Given the description of an element on the screen output the (x, y) to click on. 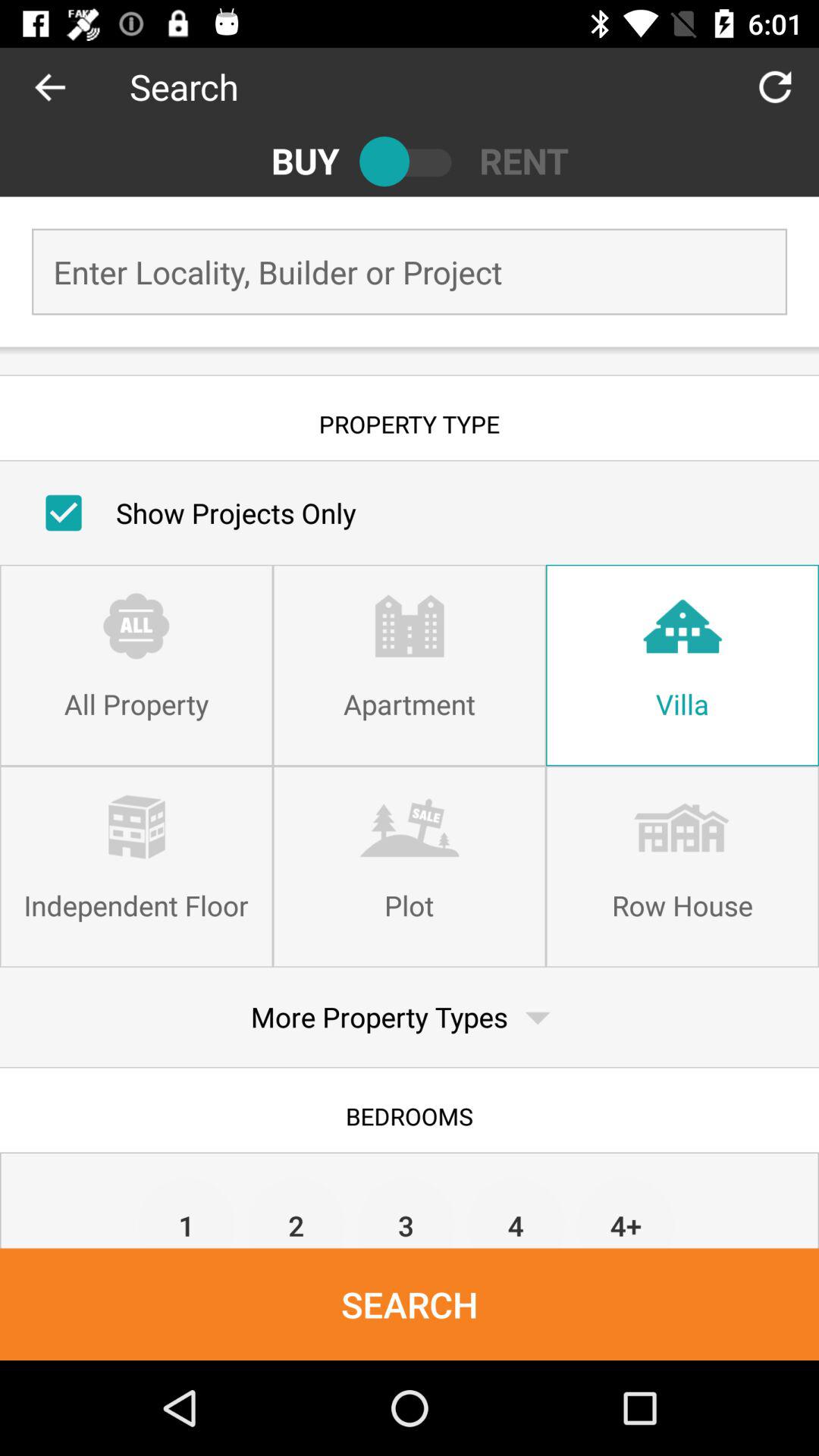
select between properties to rent or to buy (409, 161)
